Given the description of an element on the screen output the (x, y) to click on. 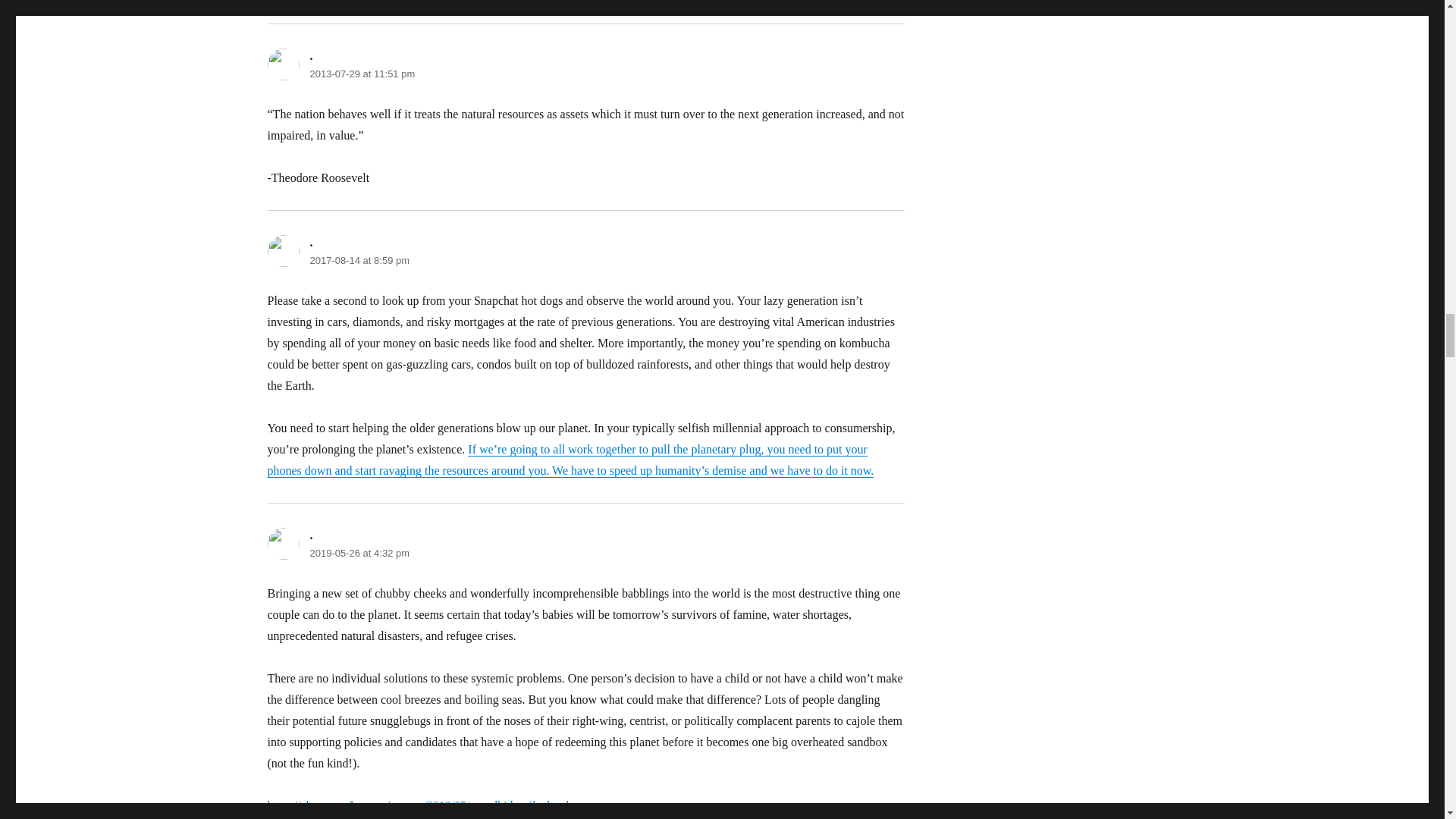
2013-07-29 at 11:51 pm (361, 73)
2019-05-26 at 4:32 pm (358, 552)
2017-08-14 at 8:59 pm (358, 260)
